Given the description of an element on the screen output the (x, y) to click on. 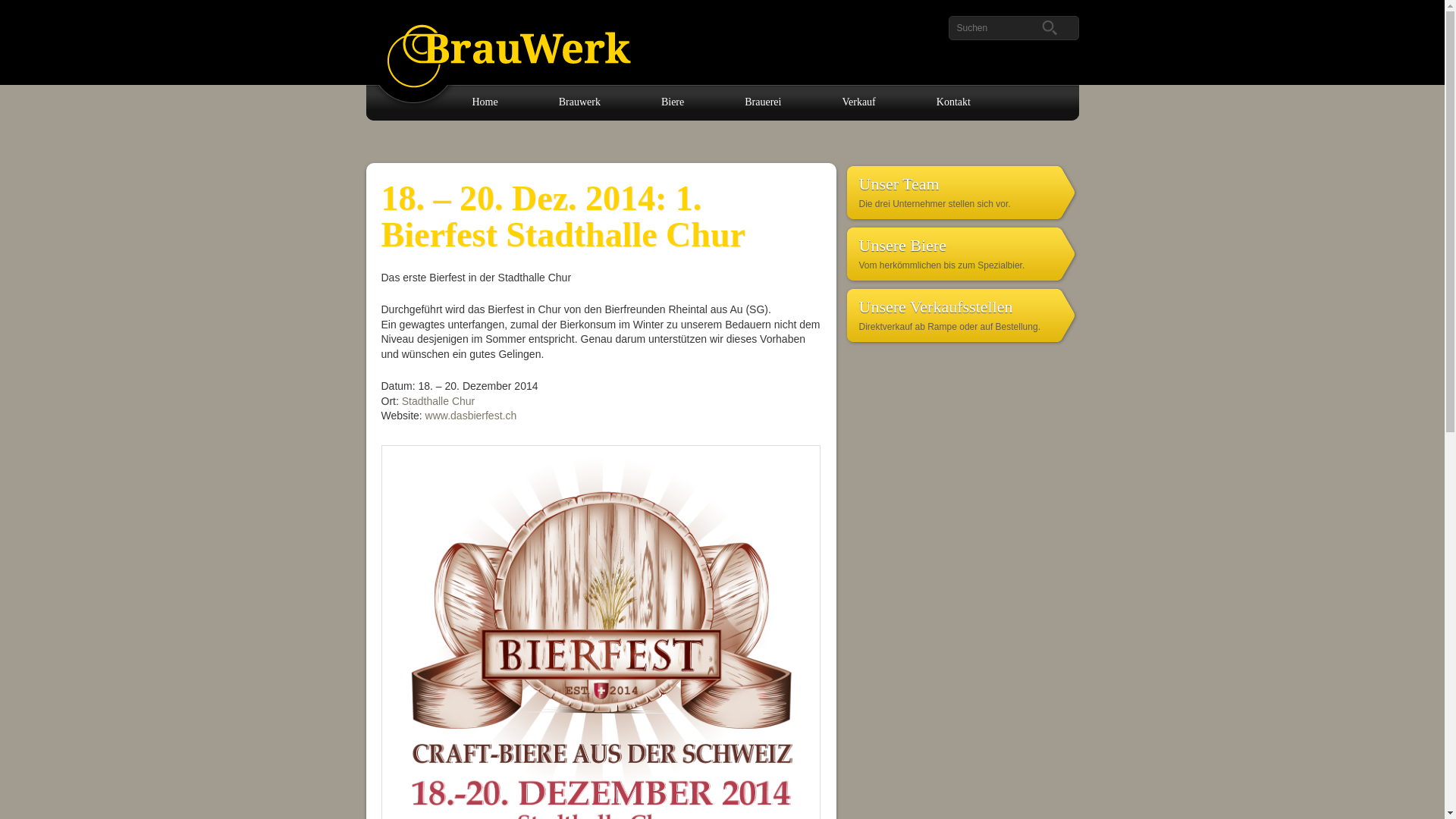
Authentische Biere gebraut auf eigenen Brauanlagen Element type: hover (502, 45)
Home Element type: text (510, 102)
Stadthalle Chur Element type: text (438, 401)
Brauerei Element type: text (789, 102)
Unser Team
Die drei Unternehmer stellen sich vor. Element type: text (960, 191)
Zum Inhalt wechseln Element type: text (436, 91)
Suchen Element type: text (23, 8)
Kontakt Element type: text (979, 102)
Biere Element type: text (699, 102)
Brauwerk Element type: text (605, 102)
Verkauf Element type: text (884, 102)
www.dasbierfest.ch Element type: text (471, 415)
